Given the description of an element on the screen output the (x, y) to click on. 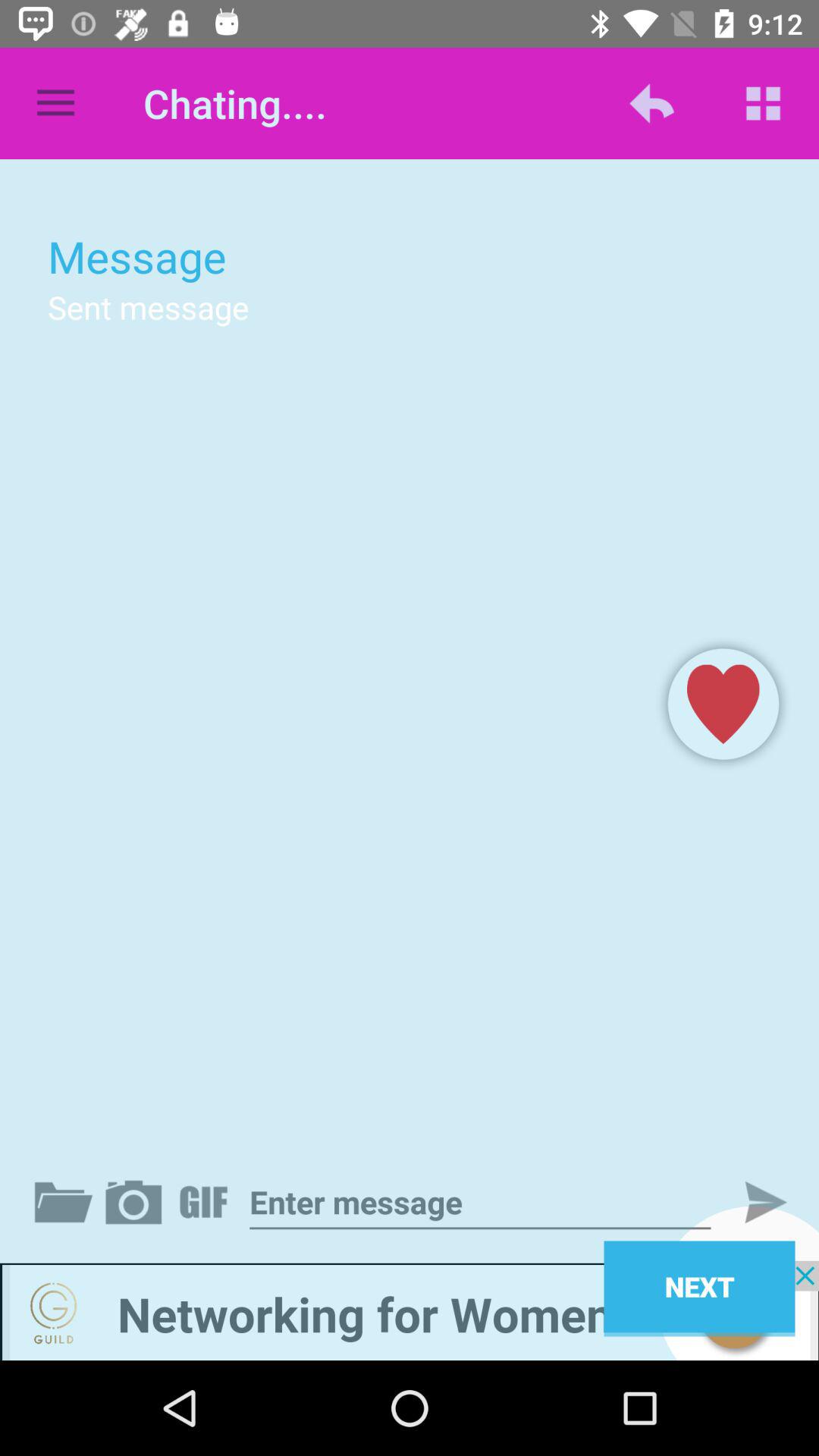
open file explorer (66, 1202)
